Given the description of an element on the screen output the (x, y) to click on. 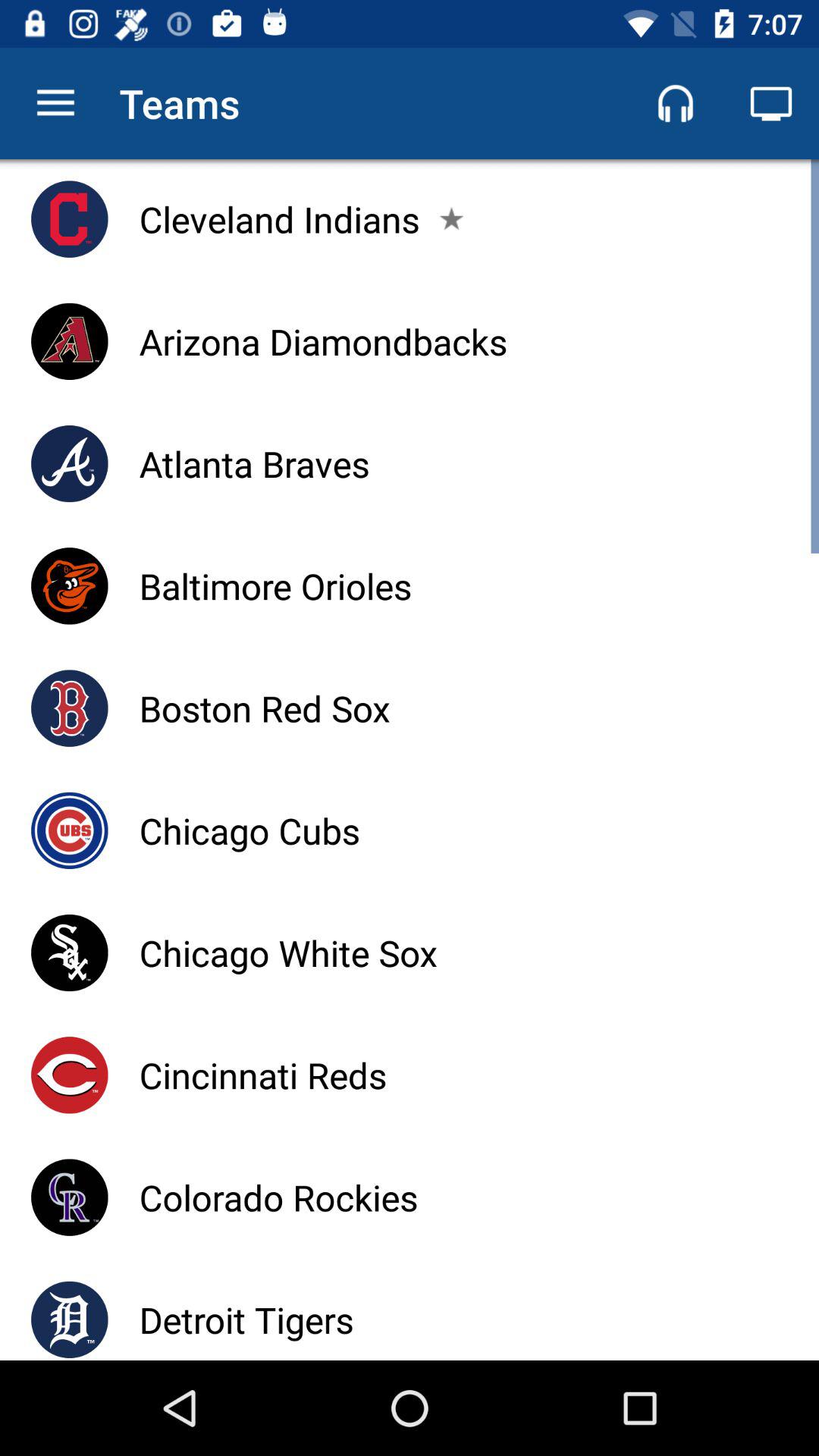
open icon above the arizona diamondbacks (279, 219)
